Given the description of an element on the screen output the (x, y) to click on. 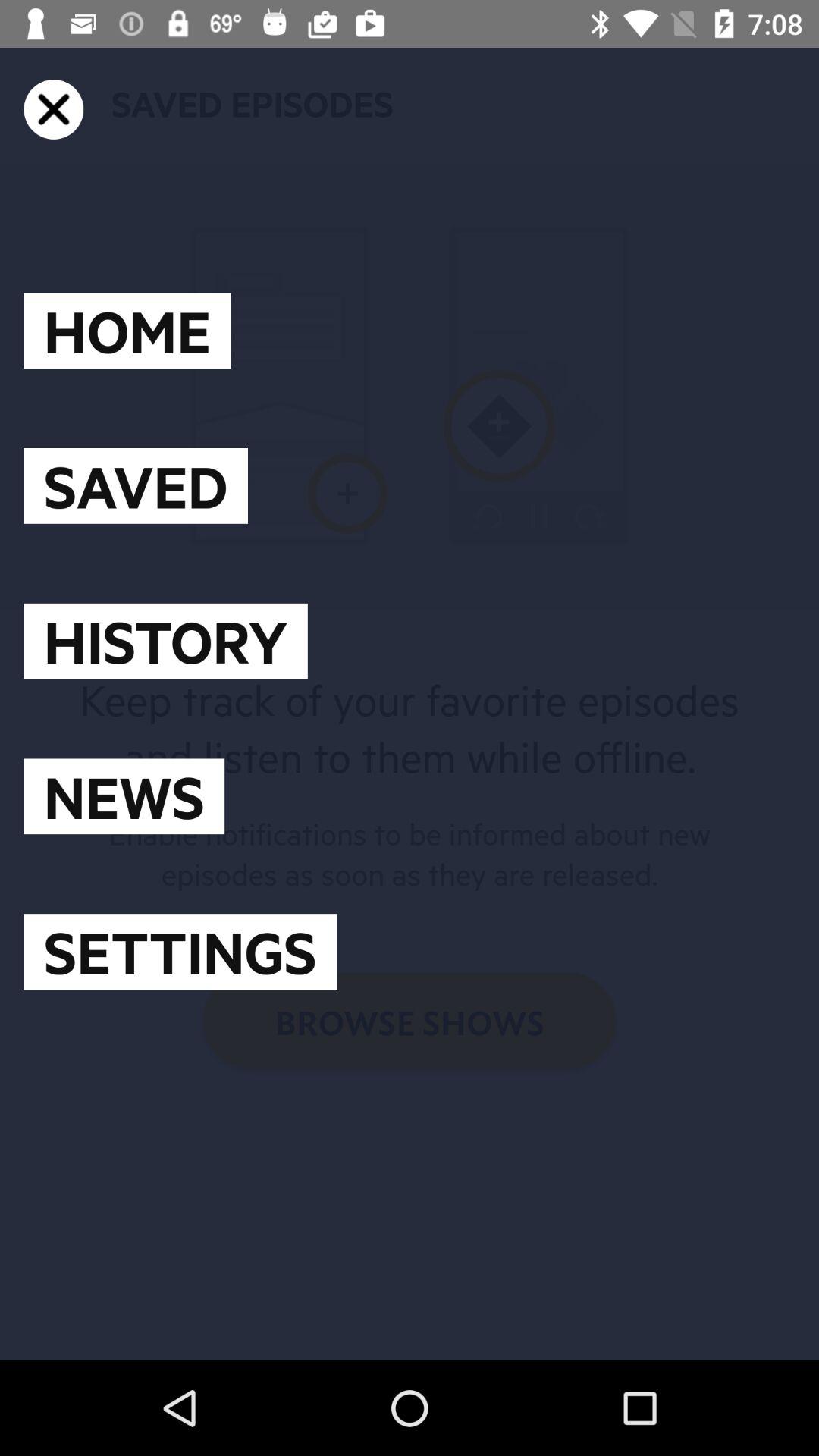
turn off item below the history icon (123, 796)
